Given the description of an element on the screen output the (x, y) to click on. 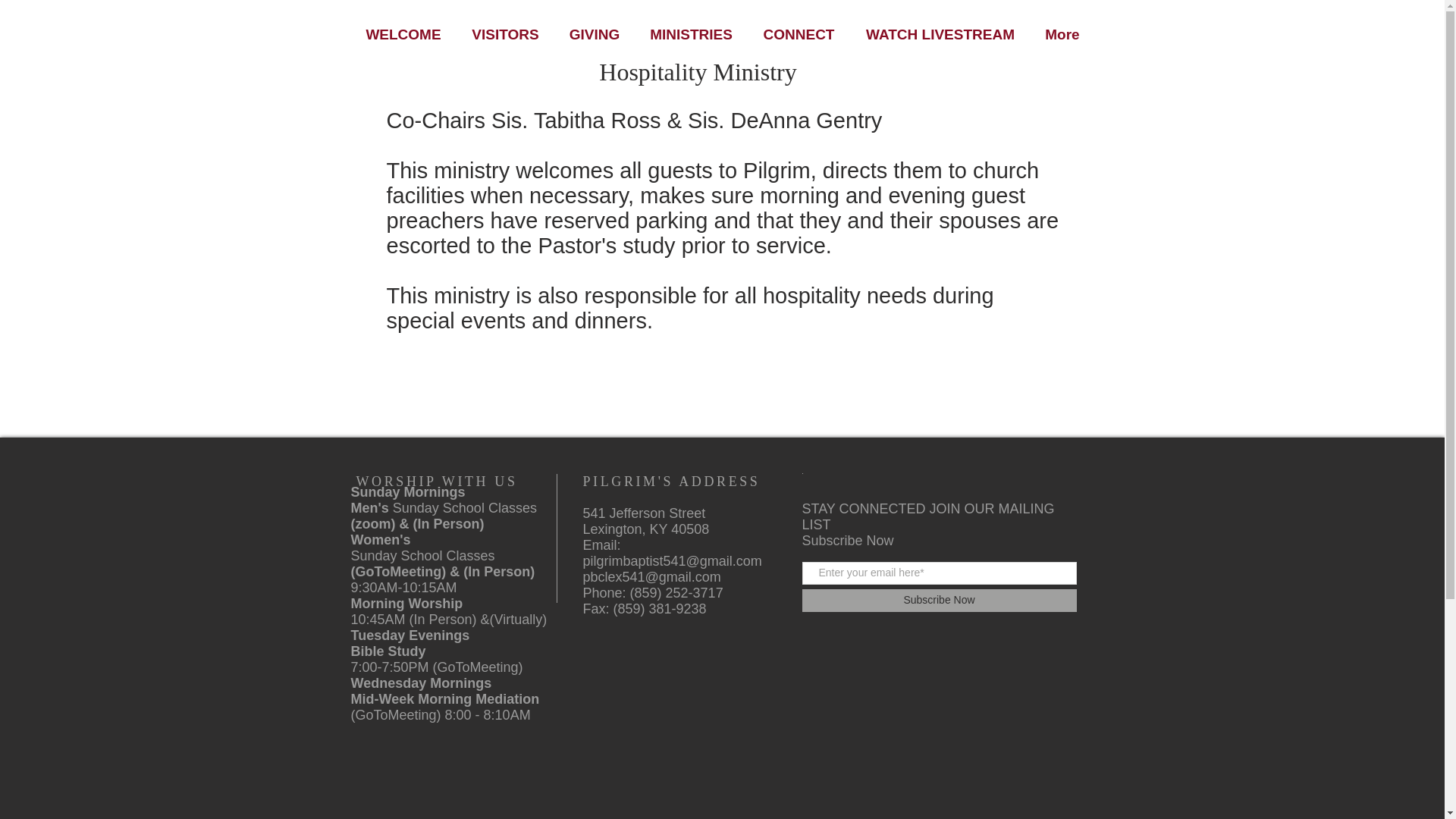
VISITORS (505, 33)
WATCH LIVESTREAM (938, 33)
WELCOME (402, 33)
CONNECT (799, 33)
MINISTRIES (689, 33)
GIVING (593, 33)
Subscribe Now (939, 599)
